Given the description of an element on the screen output the (x, y) to click on. 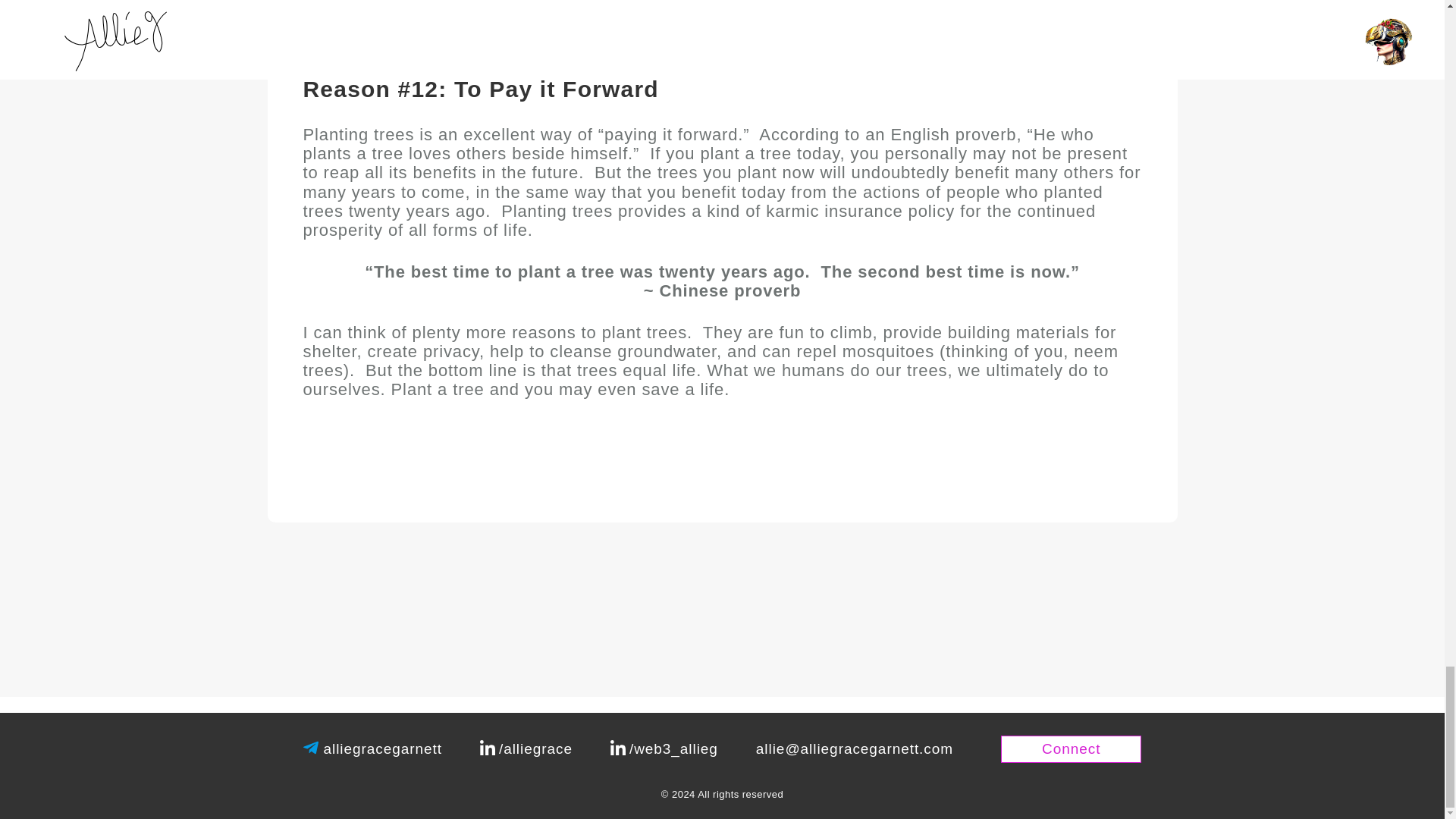
Connect (1071, 748)
Connect (1071, 748)
alliegracegarnett (382, 749)
1994 study (813, 9)
